Given the description of an element on the screen output the (x, y) to click on. 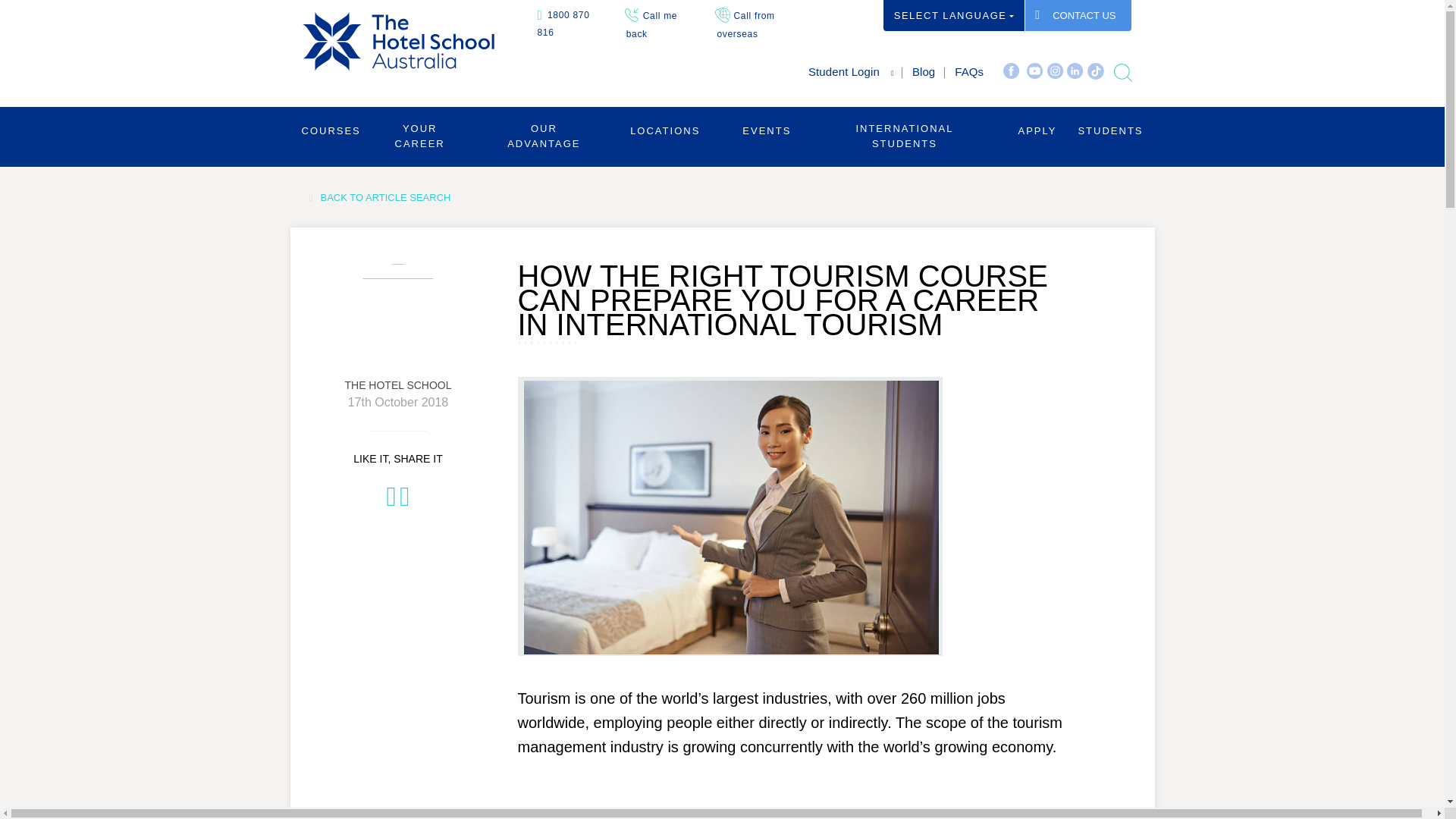
Blog (923, 71)
Call from overseas (745, 24)
1800 870 816 (563, 23)
CONTACT US (1078, 15)
Call me back (652, 24)
SELECT LANGUAGE (954, 15)
COURSES (331, 130)
FAQs (969, 71)
Student Login (843, 71)
YOUR CAREER (419, 135)
OUR ADVANTAGE (544, 135)
